Given the description of an element on the screen output the (x, y) to click on. 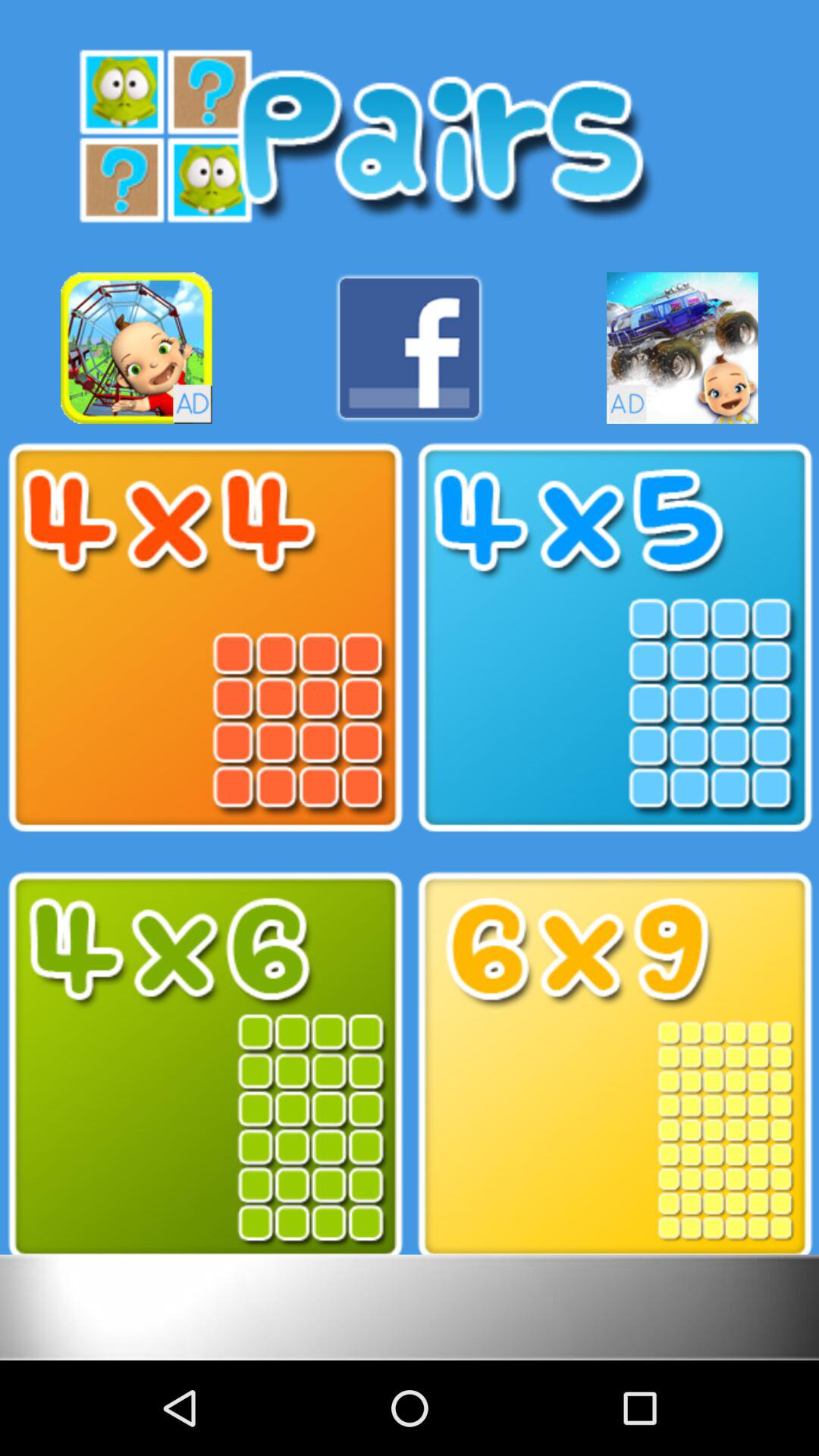
select the one picture (204, 1066)
